Given the description of an element on the screen output the (x, y) to click on. 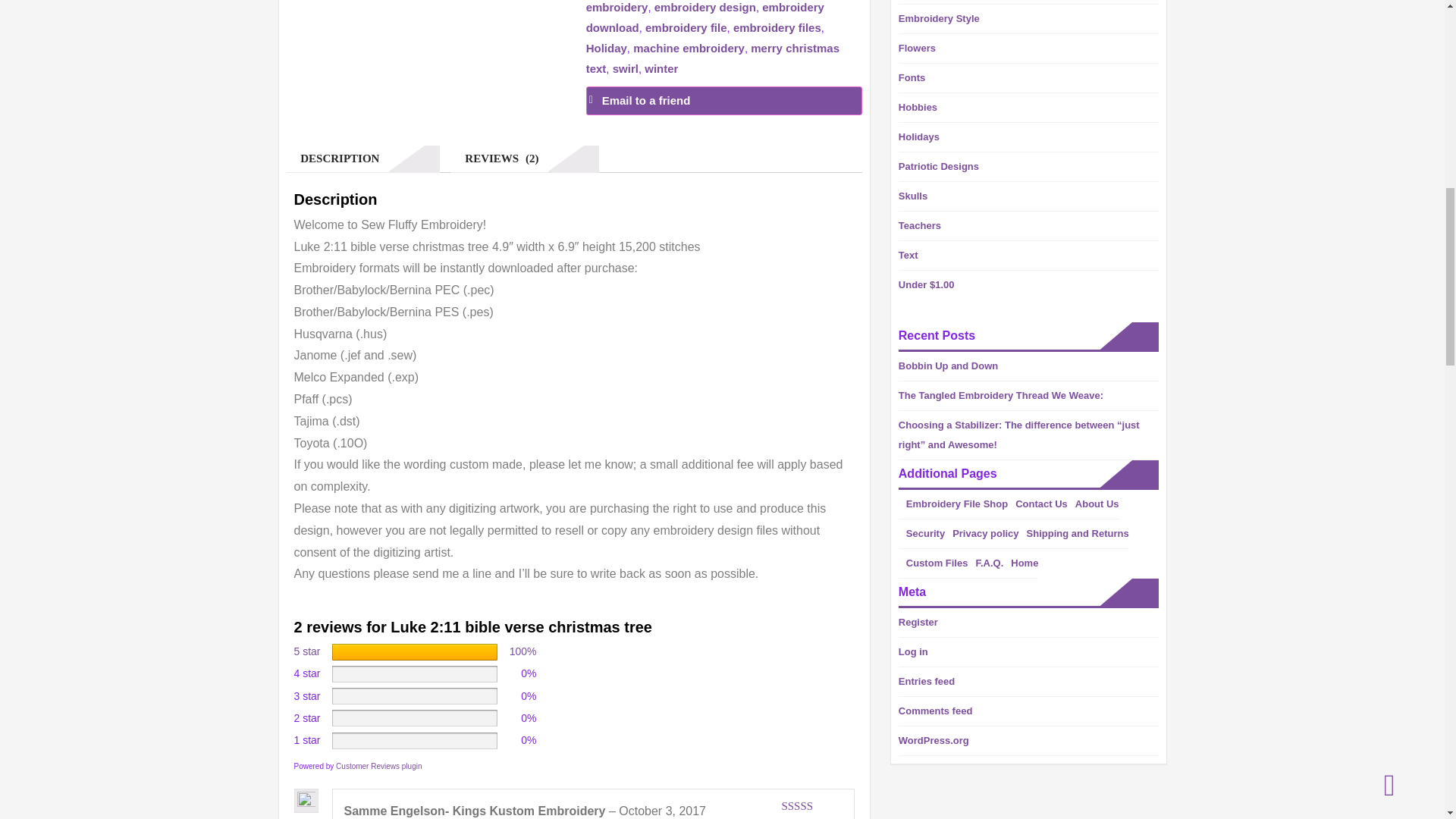
embroidery file (685, 27)
5 star (307, 651)
Holiday (606, 47)
embroidery download (705, 17)
embroidery design (704, 6)
embroidery files (777, 27)
embroidery (616, 6)
machine embroidery (688, 47)
